Given the description of an element on the screen output the (x, y) to click on. 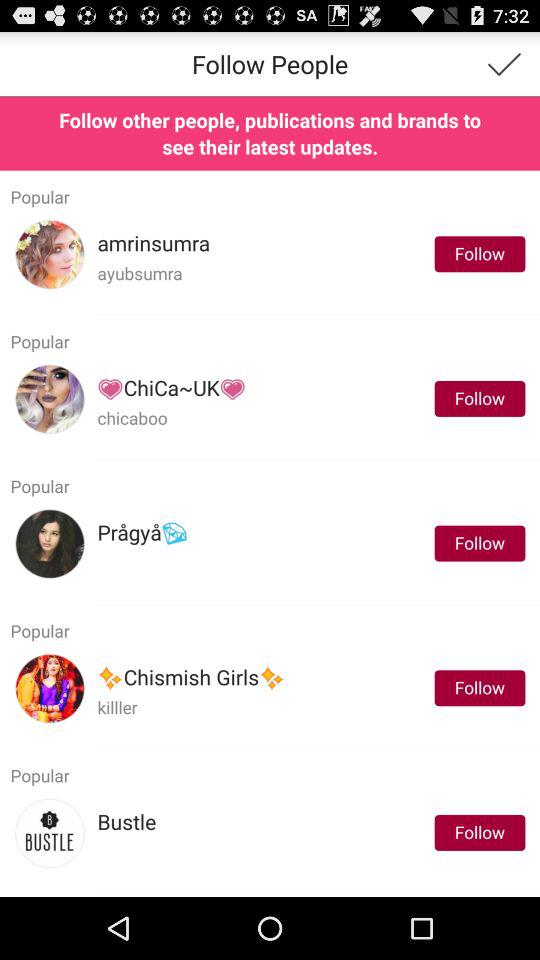
choose the icon next to follow (126, 822)
